Given the description of an element on the screen output the (x, y) to click on. 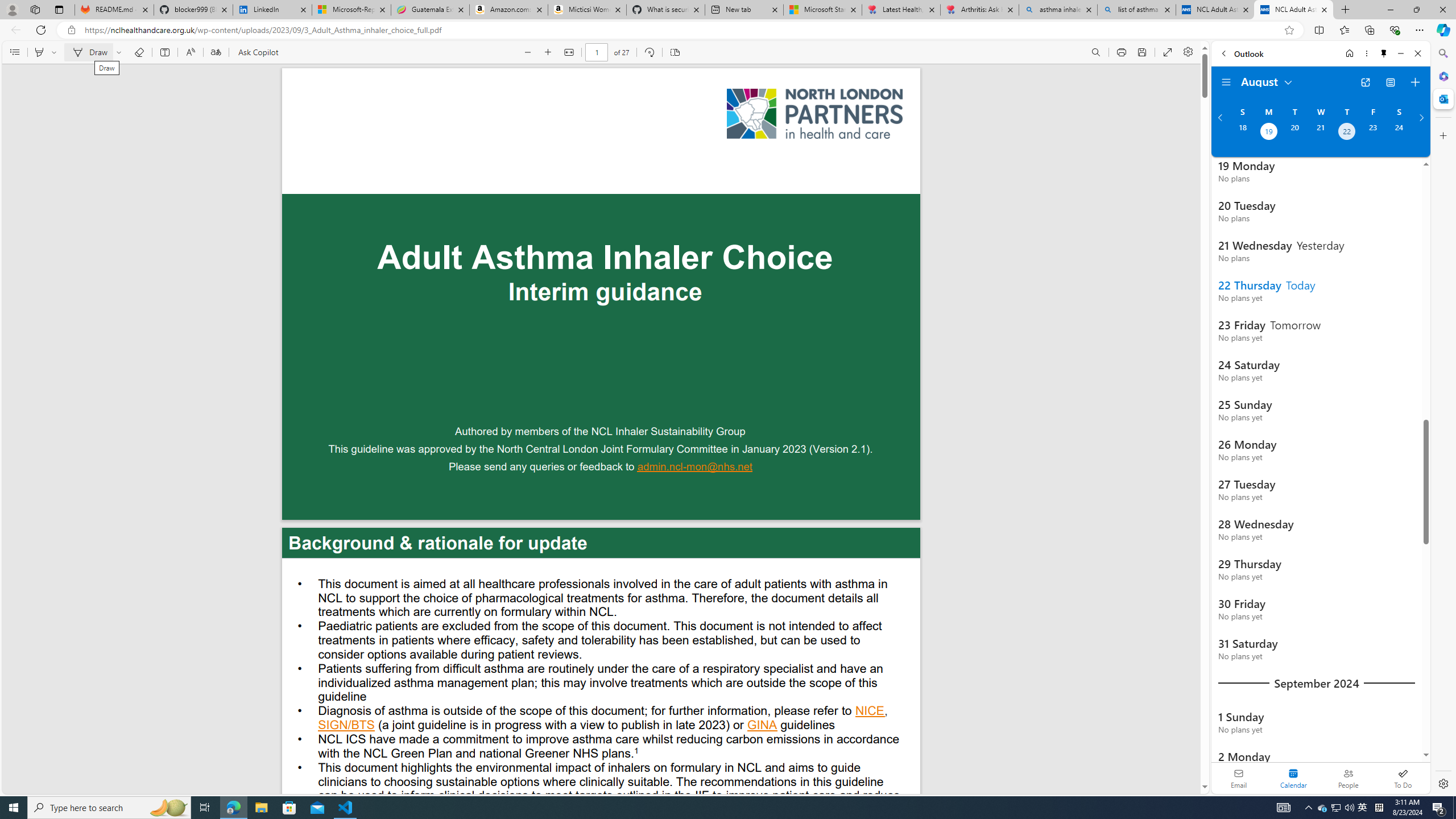
SIGN/BTS (346, 726)
Select a highlight color (56, 52)
Page view (674, 52)
Create event (1414, 82)
Zoom out (Ctrl+Minus key) (527, 52)
Unlabeled graphic (814, 114)
Select ink properties (120, 52)
Open in new tab (1365, 82)
Read aloud (189, 52)
Highlight (39, 52)
